Given the description of an element on the screen output the (x, y) to click on. 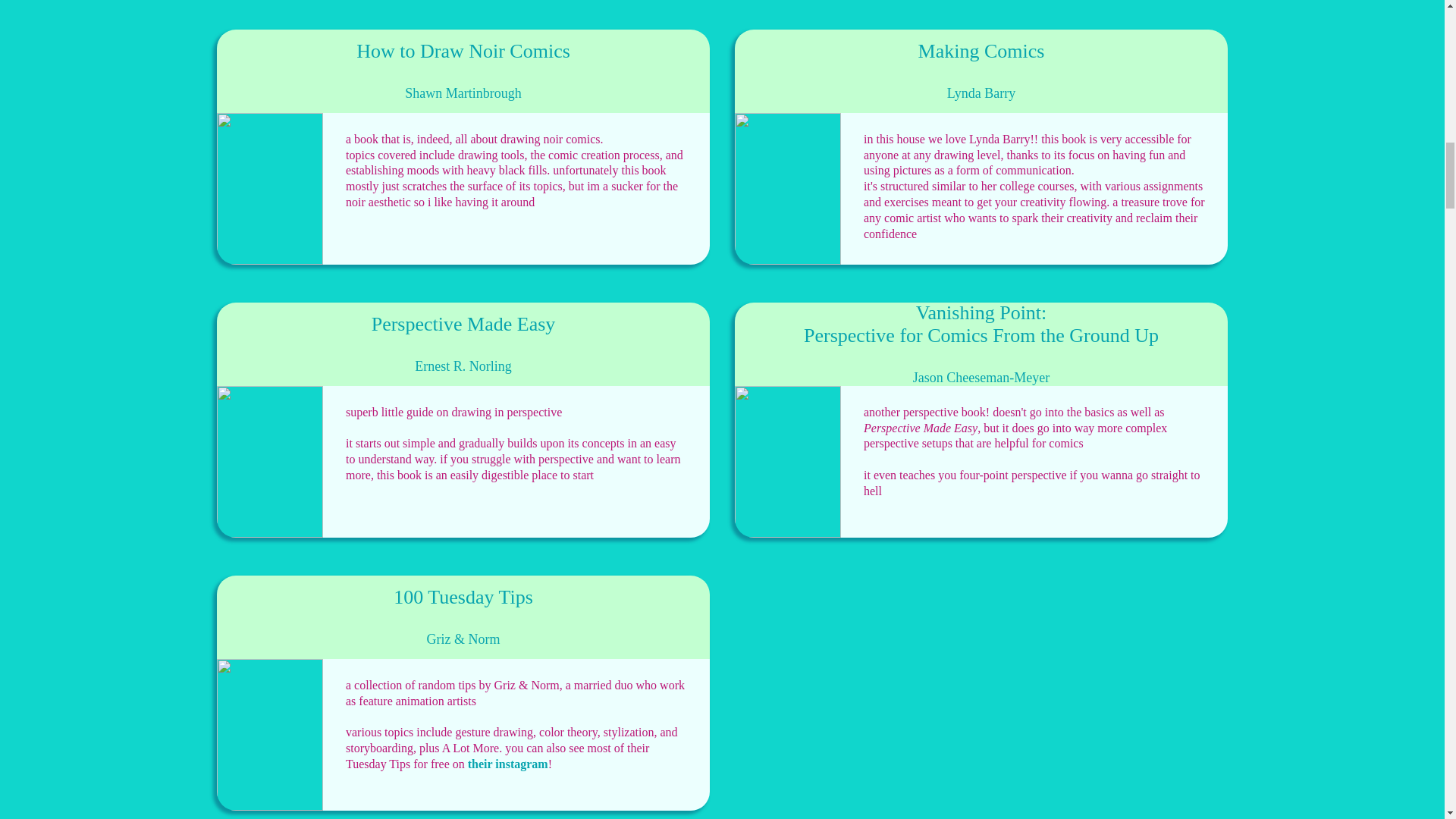
100 Tuesday Tips (462, 597)
Perspective Made Easy (462, 323)
How to Draw Noir Comics (462, 51)
their instagram (507, 763)
